Given the description of an element on the screen output the (x, y) to click on. 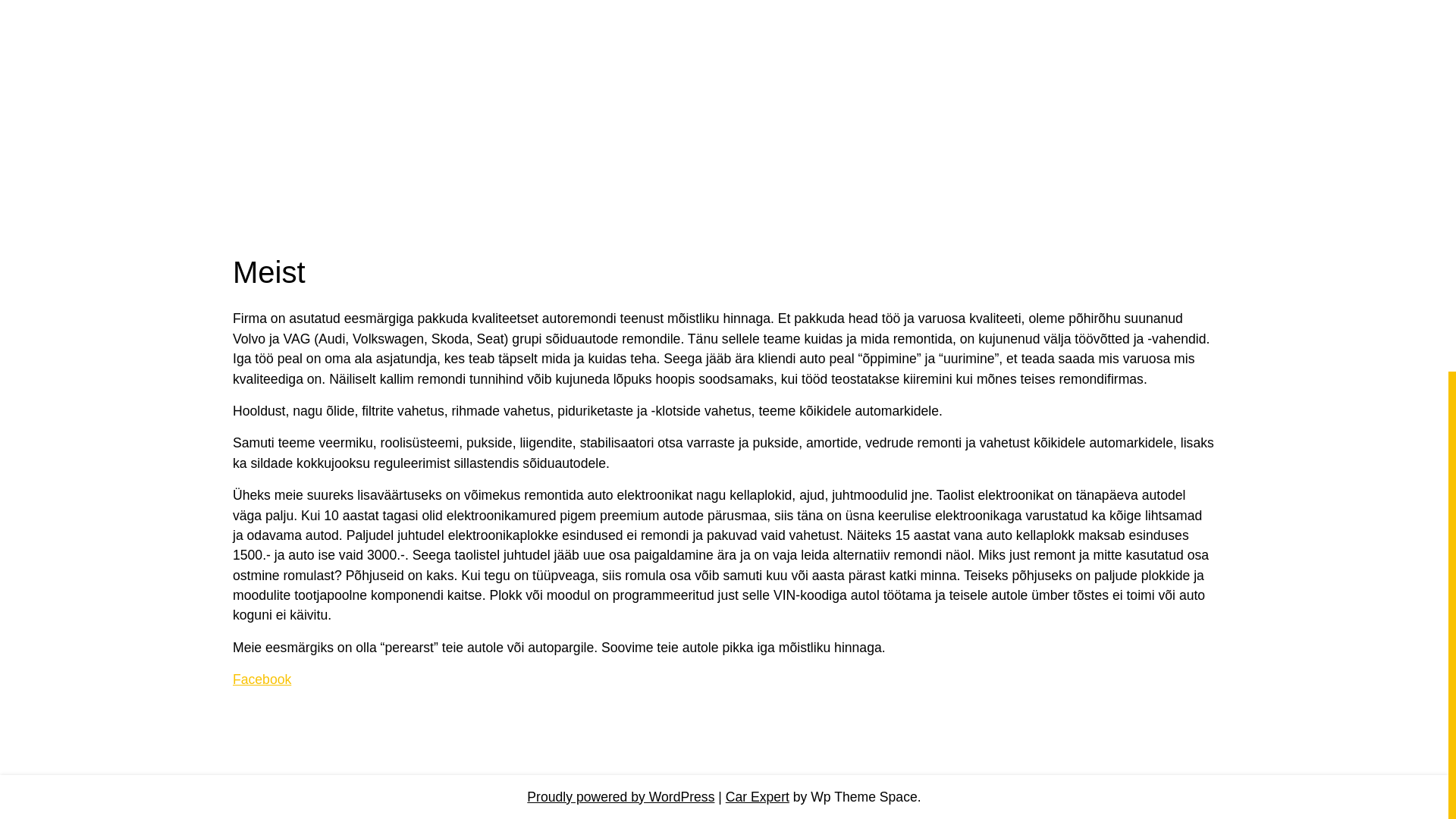
Facebook (261, 679)
Car Expert (757, 796)
Proudly powered by WordPress (620, 796)
